Given the description of an element on the screen output the (x, y) to click on. 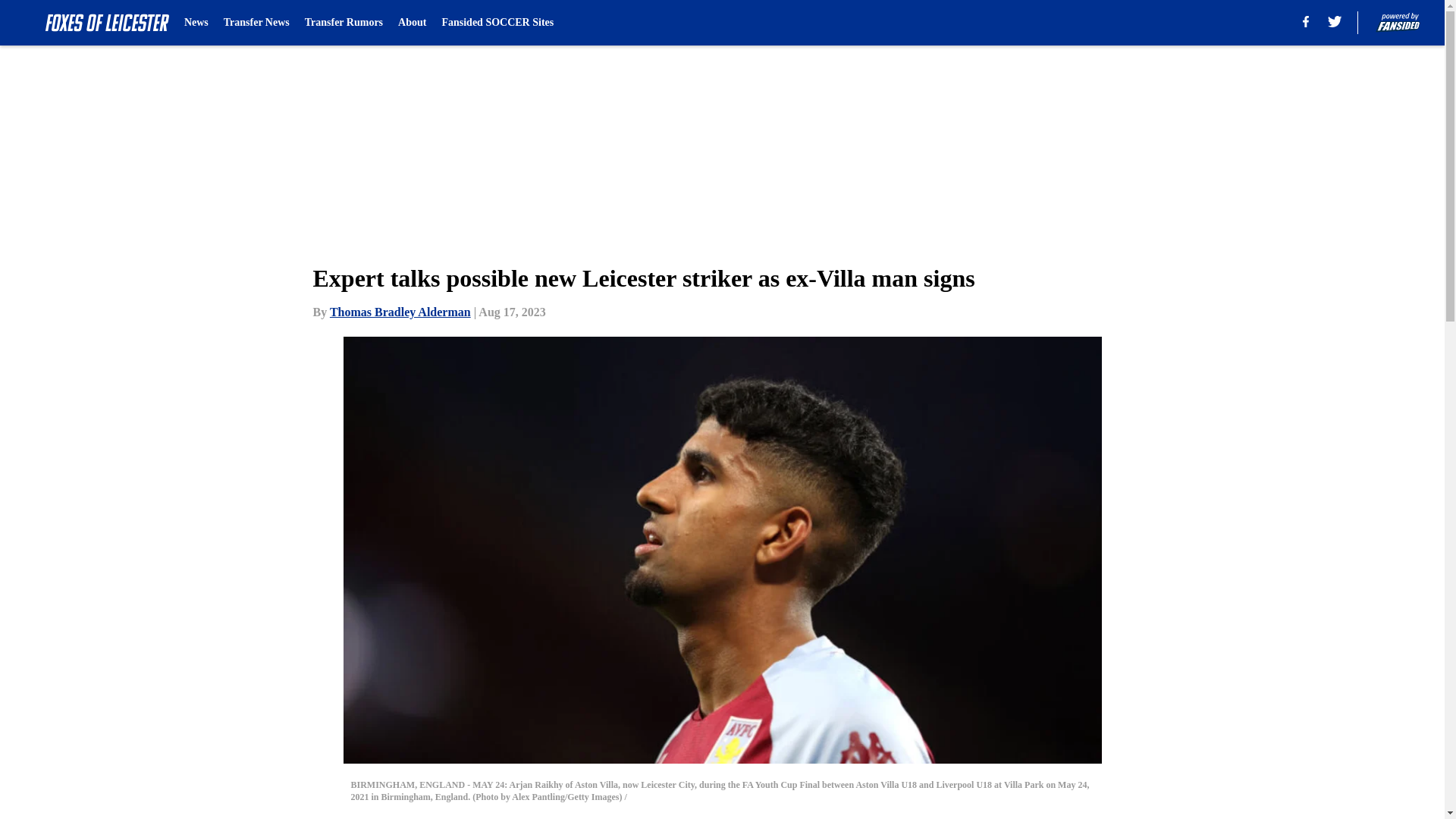
Transfer Rumors (343, 22)
Fansided SOCCER Sites (497, 22)
News (196, 22)
About (411, 22)
Transfer News (256, 22)
Thomas Bradley Alderman (400, 311)
